Given the description of an element on the screen output the (x, y) to click on. 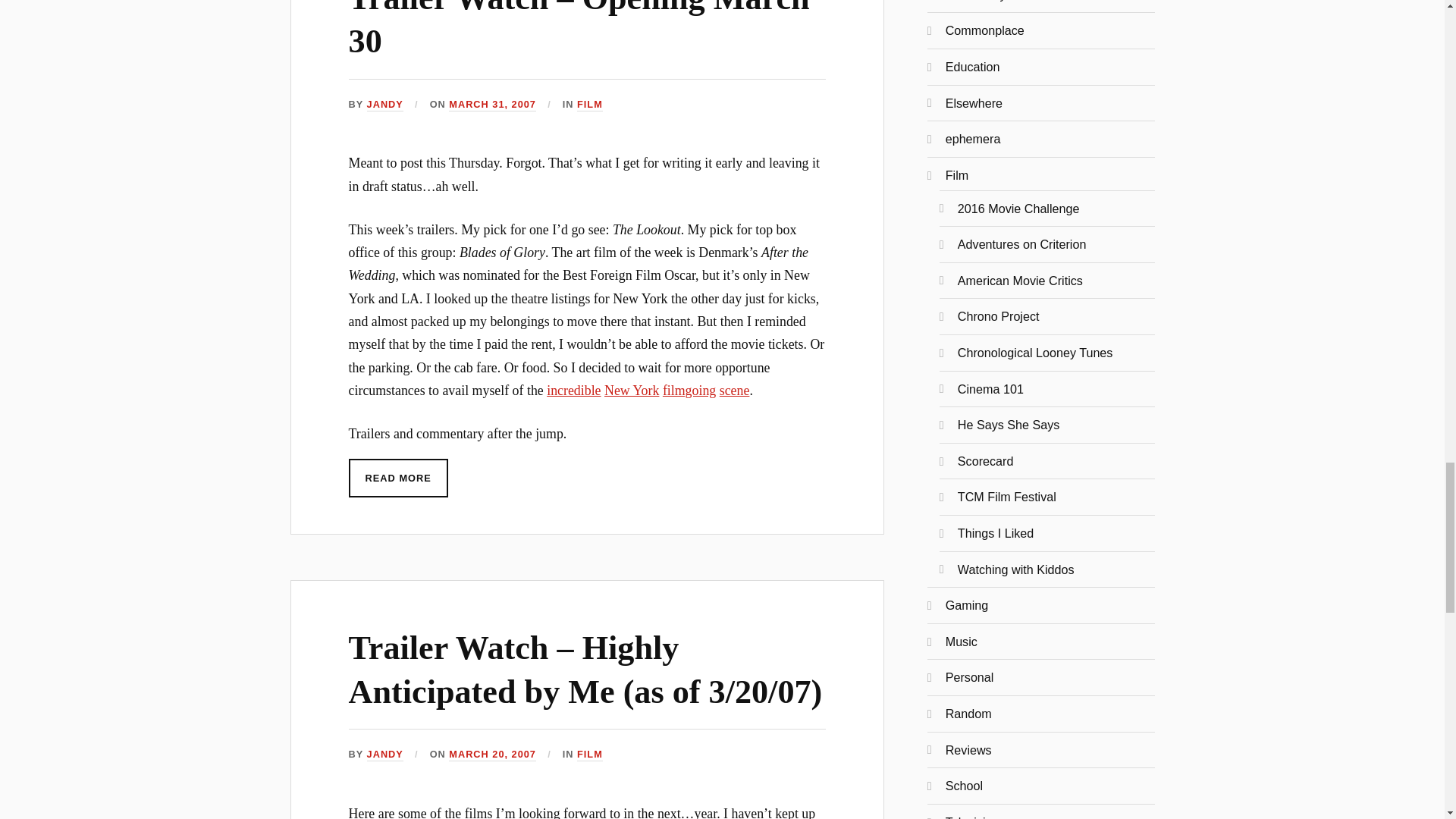
MARCH 31, 2007 (491, 104)
scene (734, 390)
JANDY (384, 754)
READ MORE (398, 477)
JANDY (384, 104)
New York (631, 390)
Posts by Jandy (384, 754)
Posts by Jandy (384, 104)
filmgoing (689, 390)
FILM (589, 104)
incredible (573, 390)
